Given the description of an element on the screen output the (x, y) to click on. 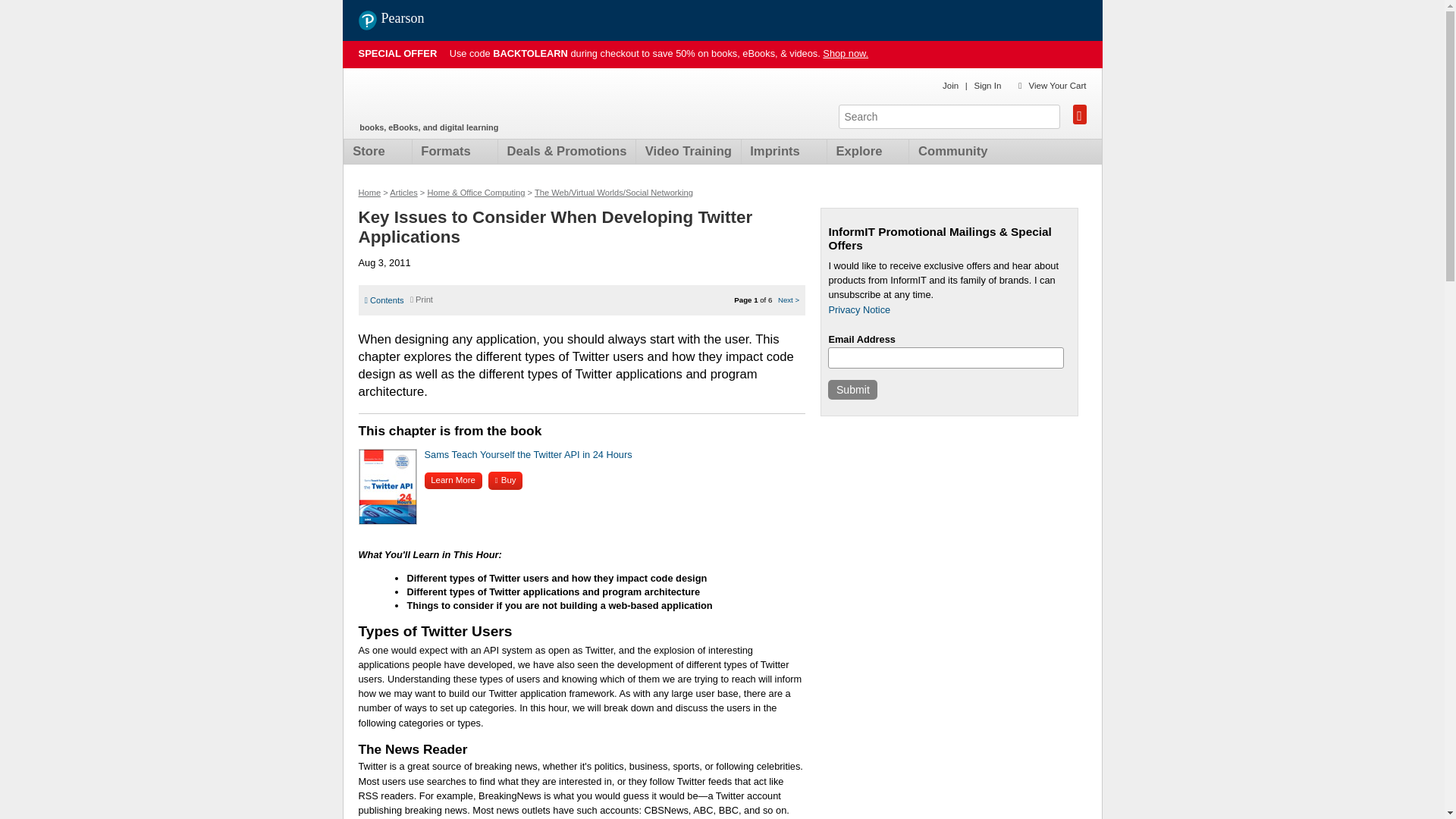
Print (421, 298)
Submit (852, 389)
Shop now. (844, 52)
Learn More (453, 480)
Home (369, 192)
Privacy Notice (858, 309)
Join (950, 85)
Home (446, 98)
Articles (403, 192)
Submit (852, 389)
